Given the description of an element on the screen output the (x, y) to click on. 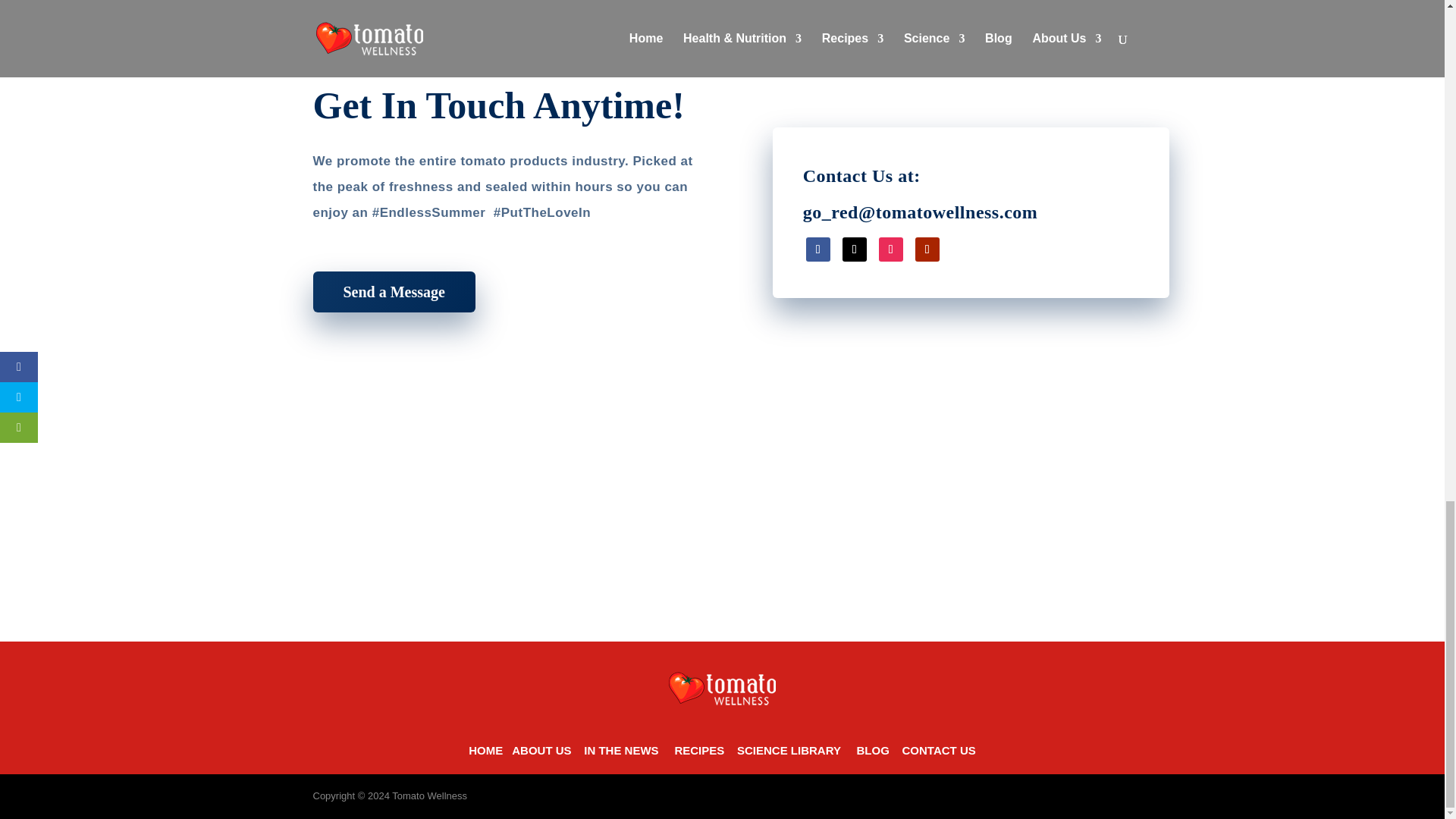
Follow on X (854, 249)
Follow on Facebook (817, 249)
Follow on Youtube (927, 249)
Follow on Instagram (890, 249)
